Given the description of an element on the screen output the (x, y) to click on. 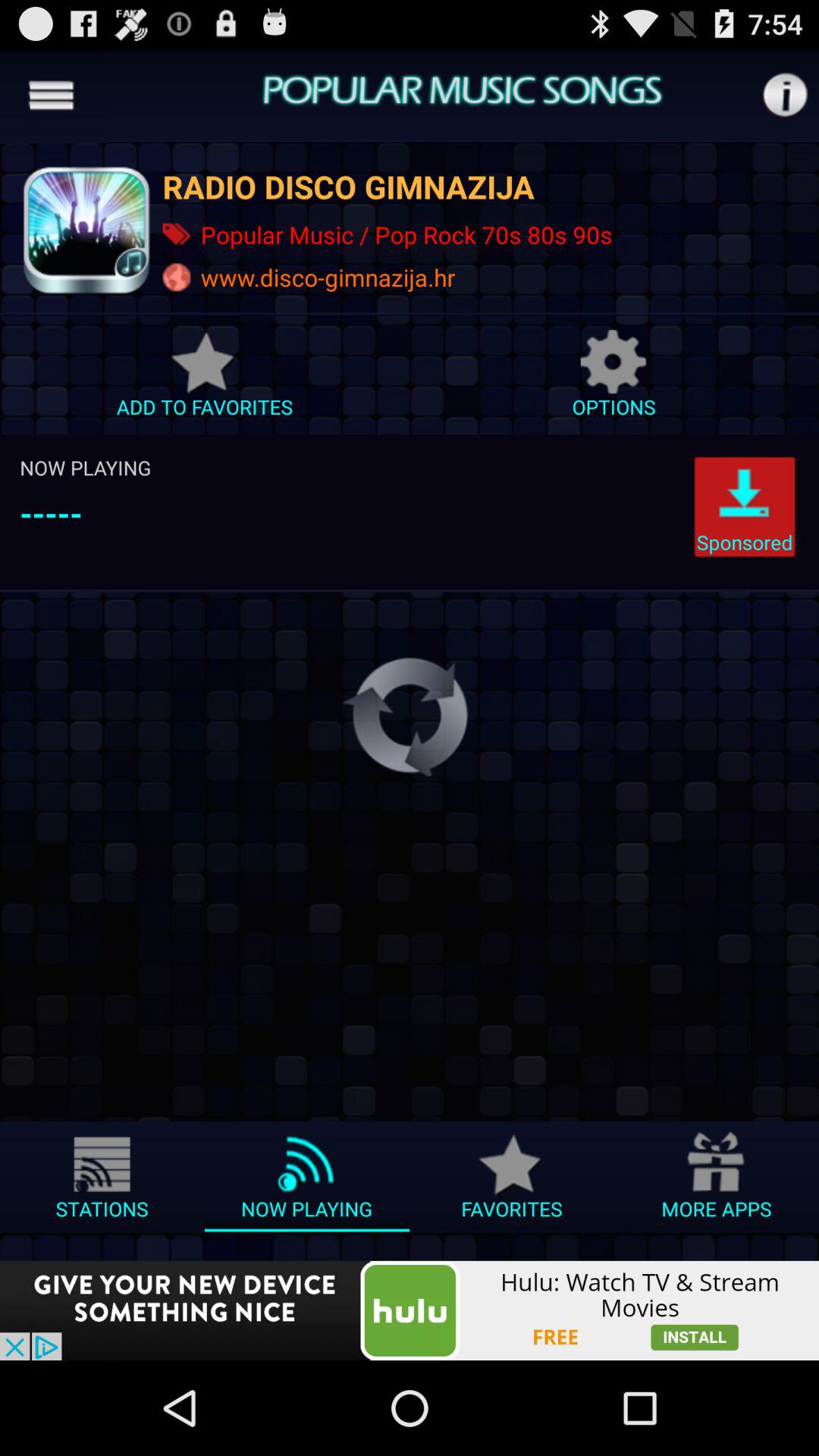
info (784, 95)
